Given the description of an element on the screen output the (x, y) to click on. 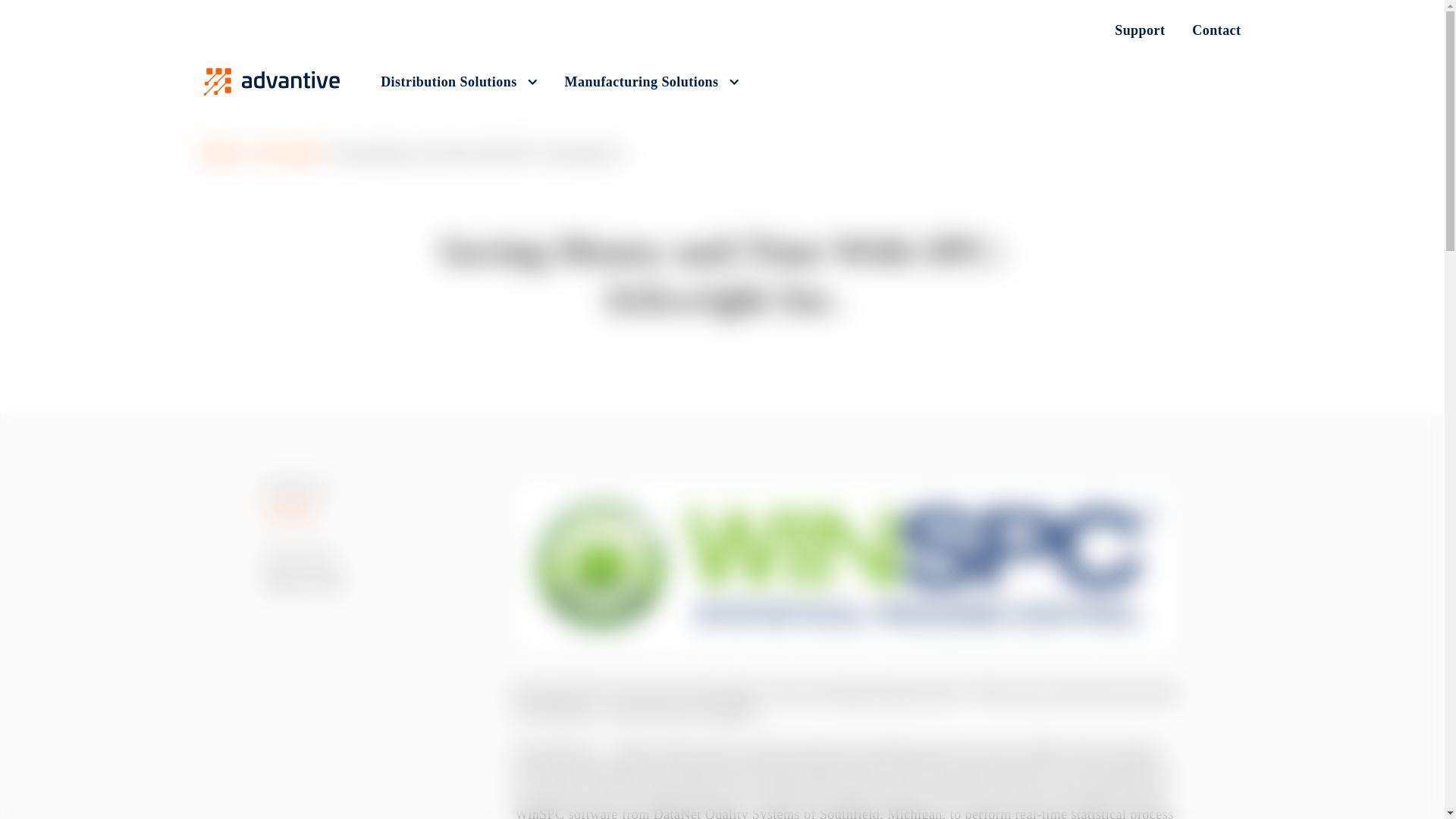
Advantive Home (271, 82)
Support (1138, 30)
Distribution Solutions (458, 81)
Contact (1208, 30)
Manufacturing Solutions (651, 81)
